Given the description of an element on the screen output the (x, y) to click on. 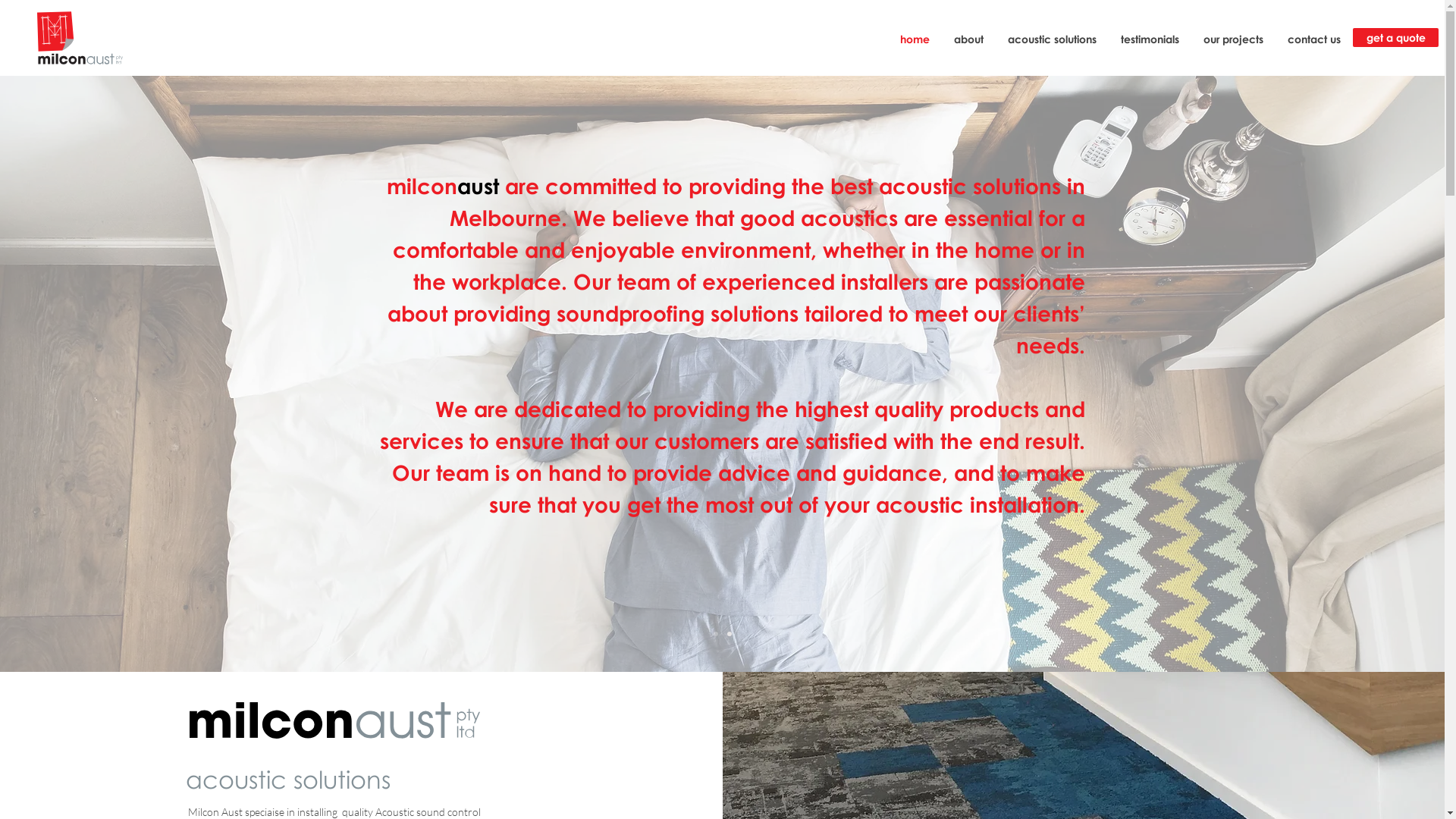
our projects Element type: text (1233, 39)
acoustic solutions Element type: text (1051, 39)
Cropped milconaust acoustic black logo.p Element type: hover (414, 741)
testimonials Element type: text (1149, 39)
about Element type: text (968, 39)
read more Element type: text (1033, 742)
home Element type: text (914, 39)
get a quote Element type: text (1395, 37)
contact us Element type: text (1313, 39)
